Given the description of an element on the screen output the (x, y) to click on. 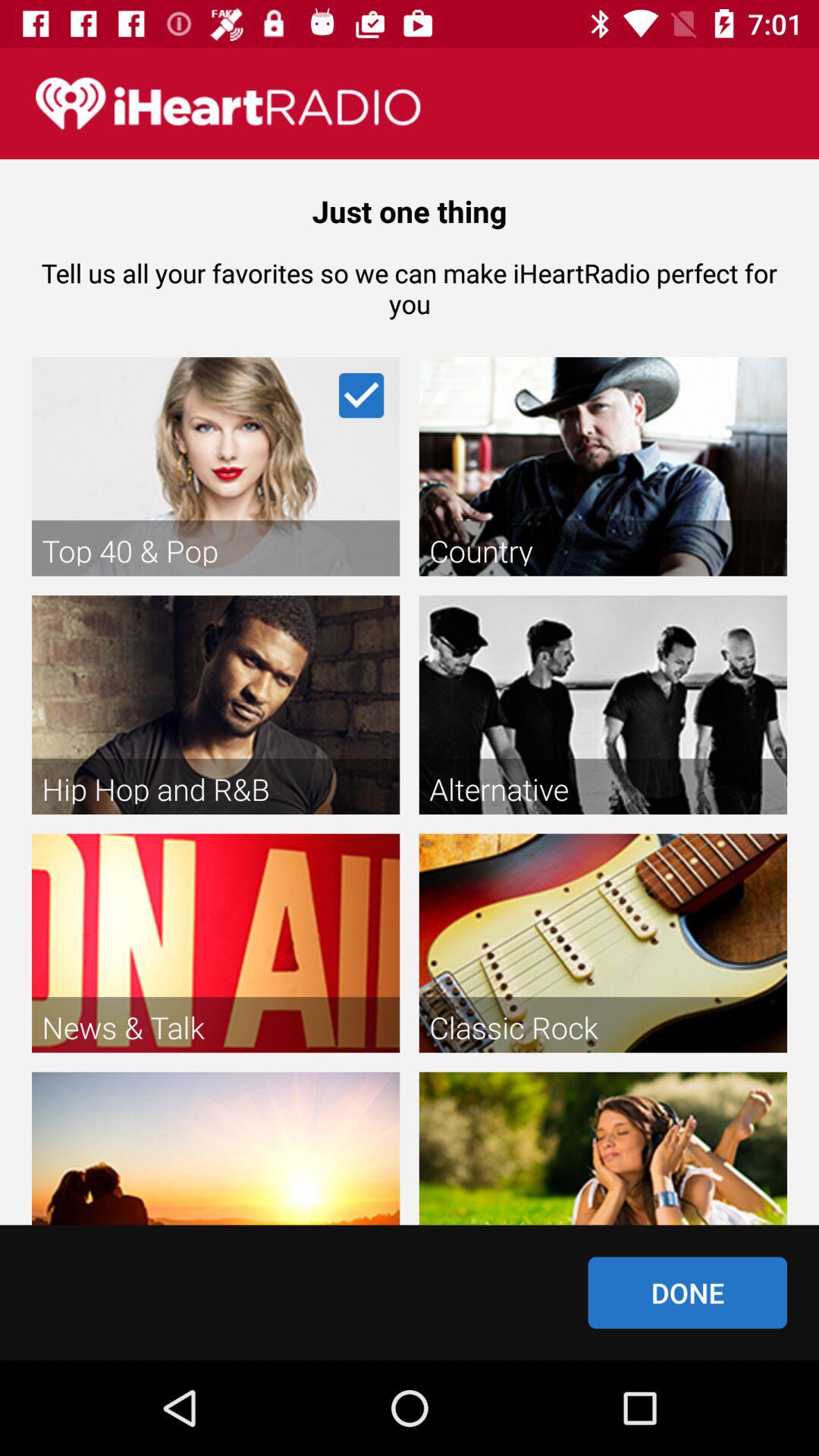
scroll to done (687, 1292)
